Given the description of an element on the screen output the (x, y) to click on. 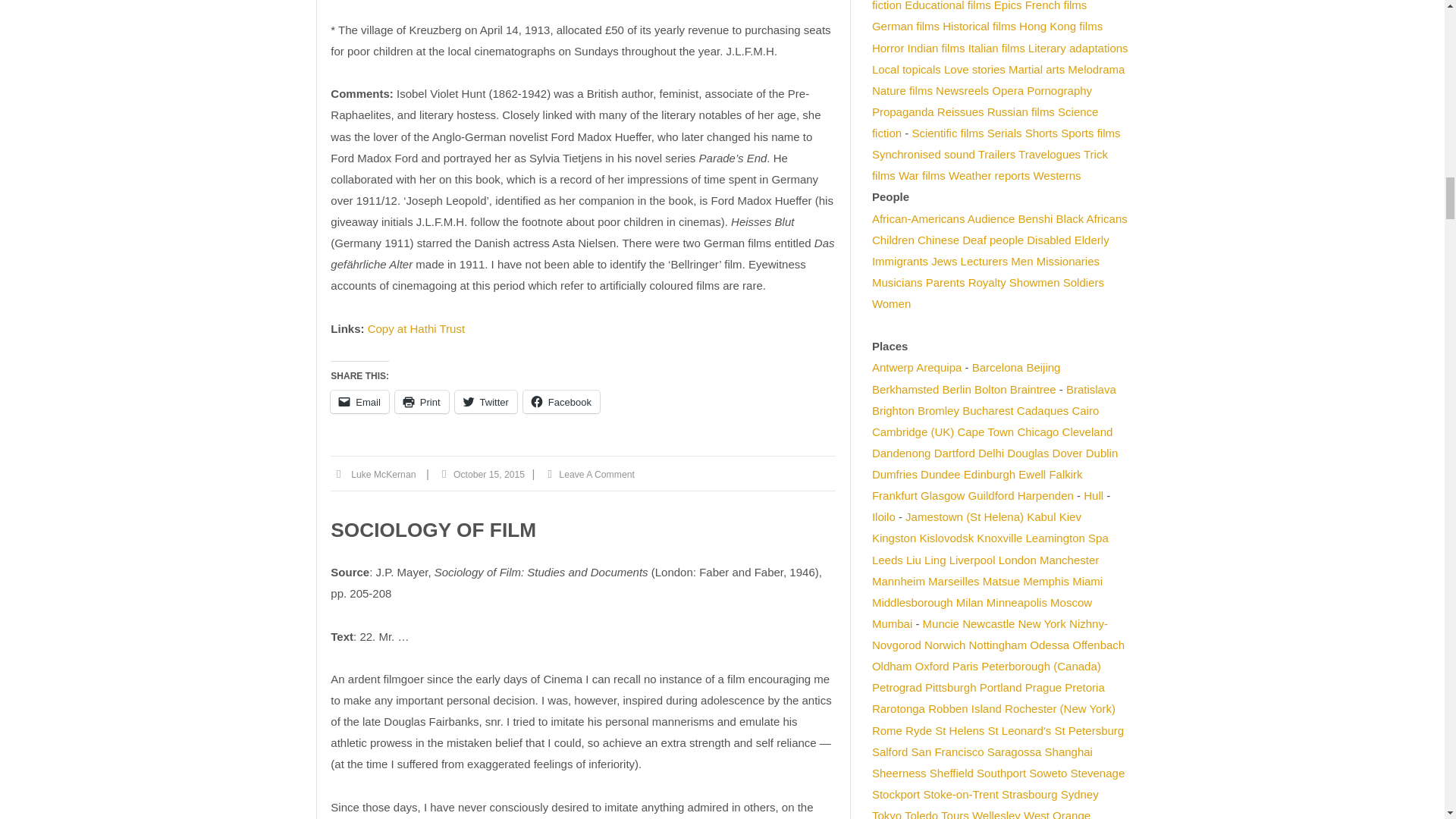
Copy at Hathi Trust (416, 328)
Click to email a link to a friend (359, 401)
Email (359, 401)
Leave A Comment (596, 474)
Facebook (560, 401)
Click to share on Twitter (485, 401)
October 15, 2015 (488, 474)
SOCIOLOGY OF FILM (432, 529)
Print (421, 401)
Click to share on Facebook (560, 401)
